Given the description of an element on the screen output the (x, y) to click on. 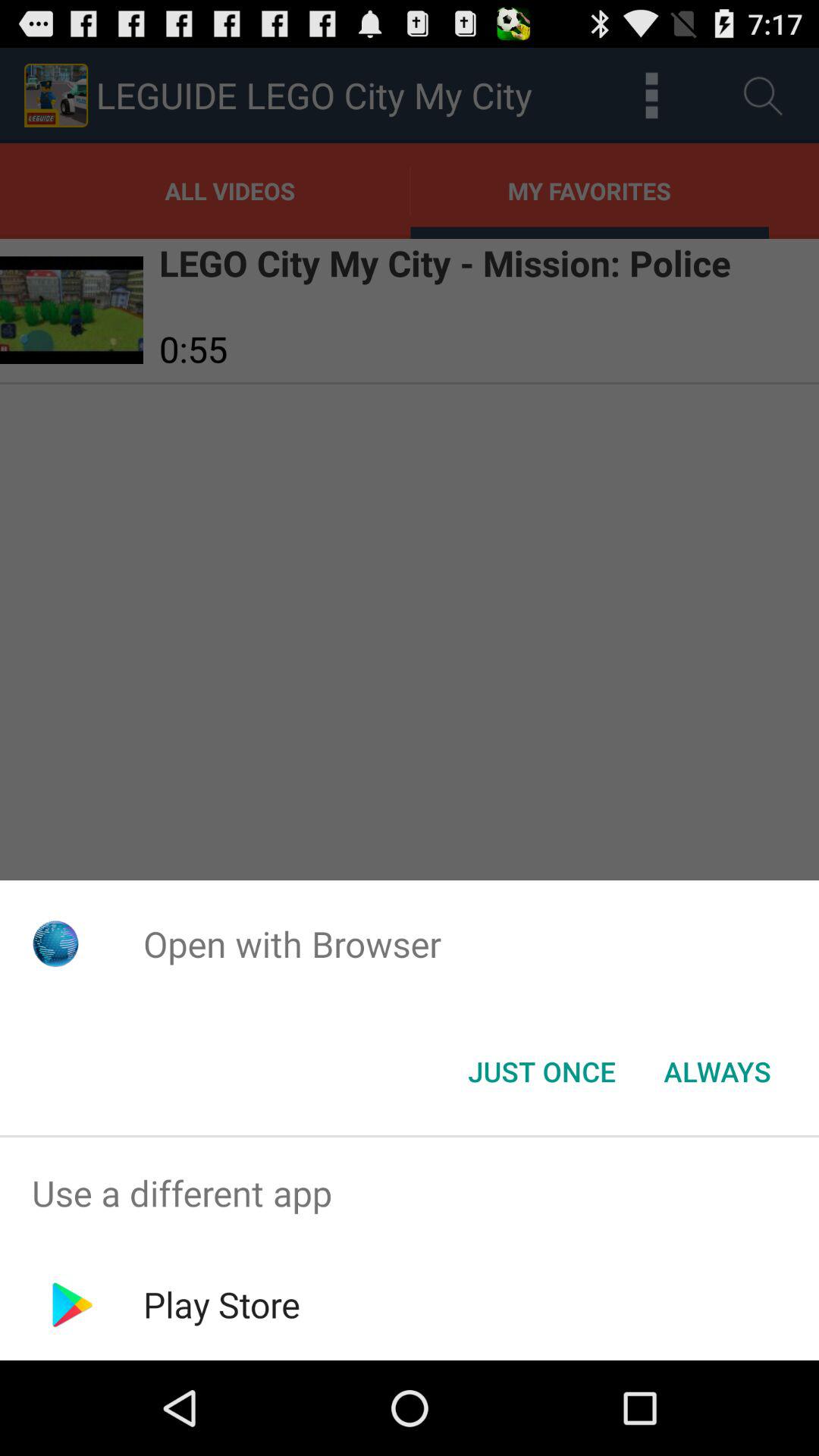
press item at the bottom right corner (717, 1071)
